Given the description of an element on the screen output the (x, y) to click on. 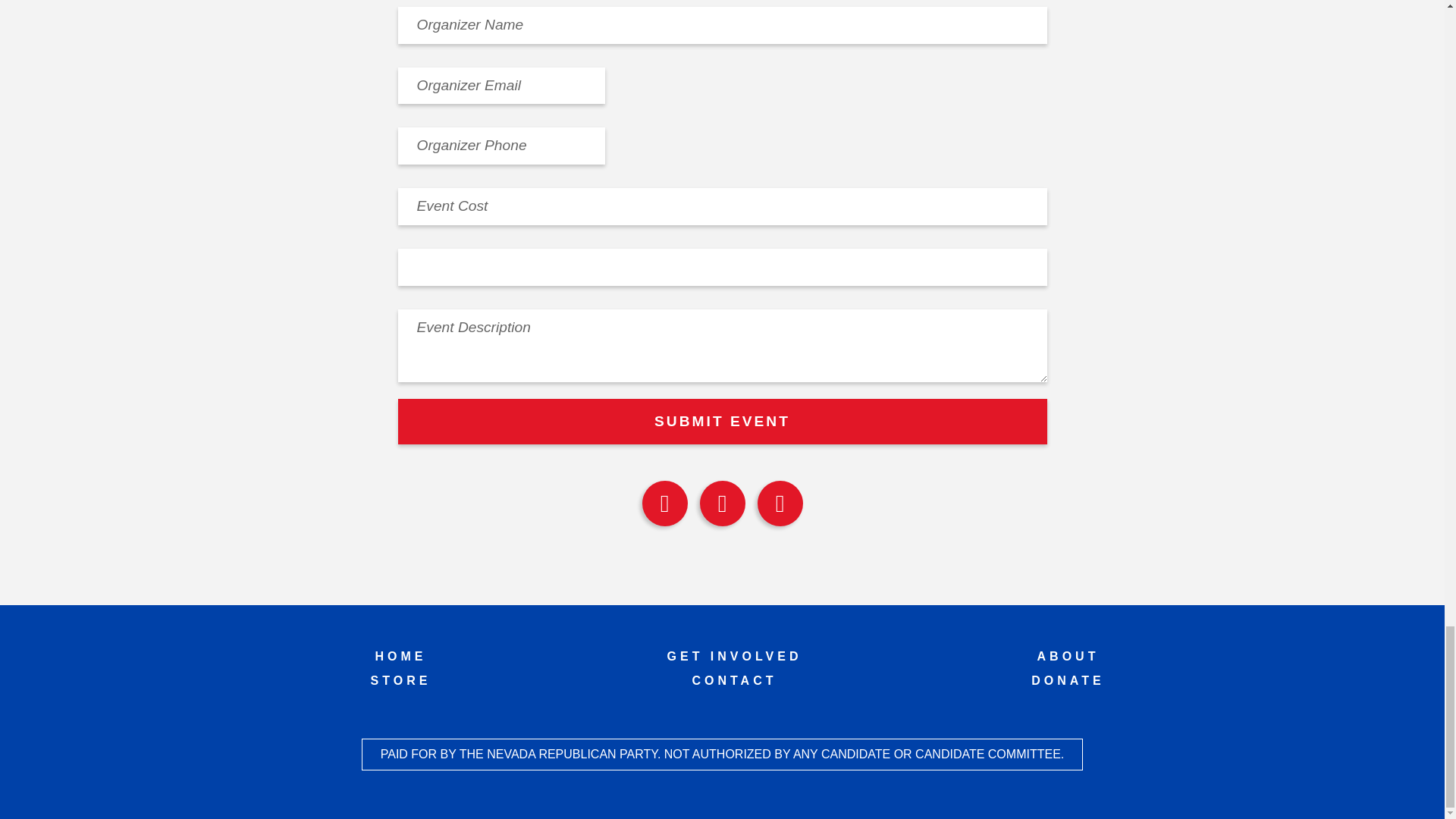
Submit Event (721, 421)
